Given the description of an element on the screen output the (x, y) to click on. 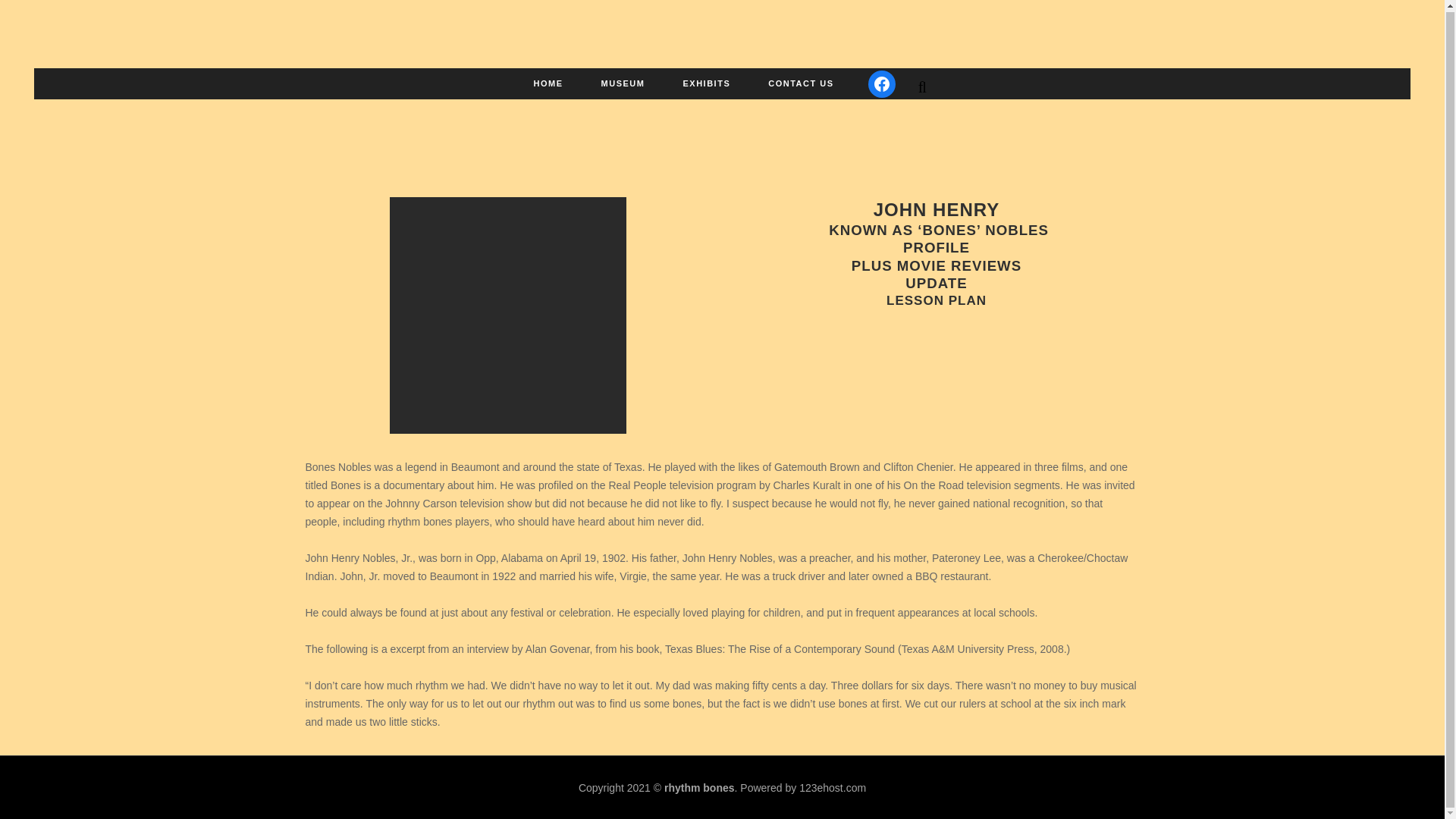
CONTACT US (800, 83)
Facebook (881, 83)
LESSON PLAN (936, 278)
PROFILE (935, 226)
UPDATE (935, 261)
HOME (548, 83)
EXHIBITS (706, 83)
MUSEUM (622, 83)
